Given the description of an element on the screen output the (x, y) to click on. 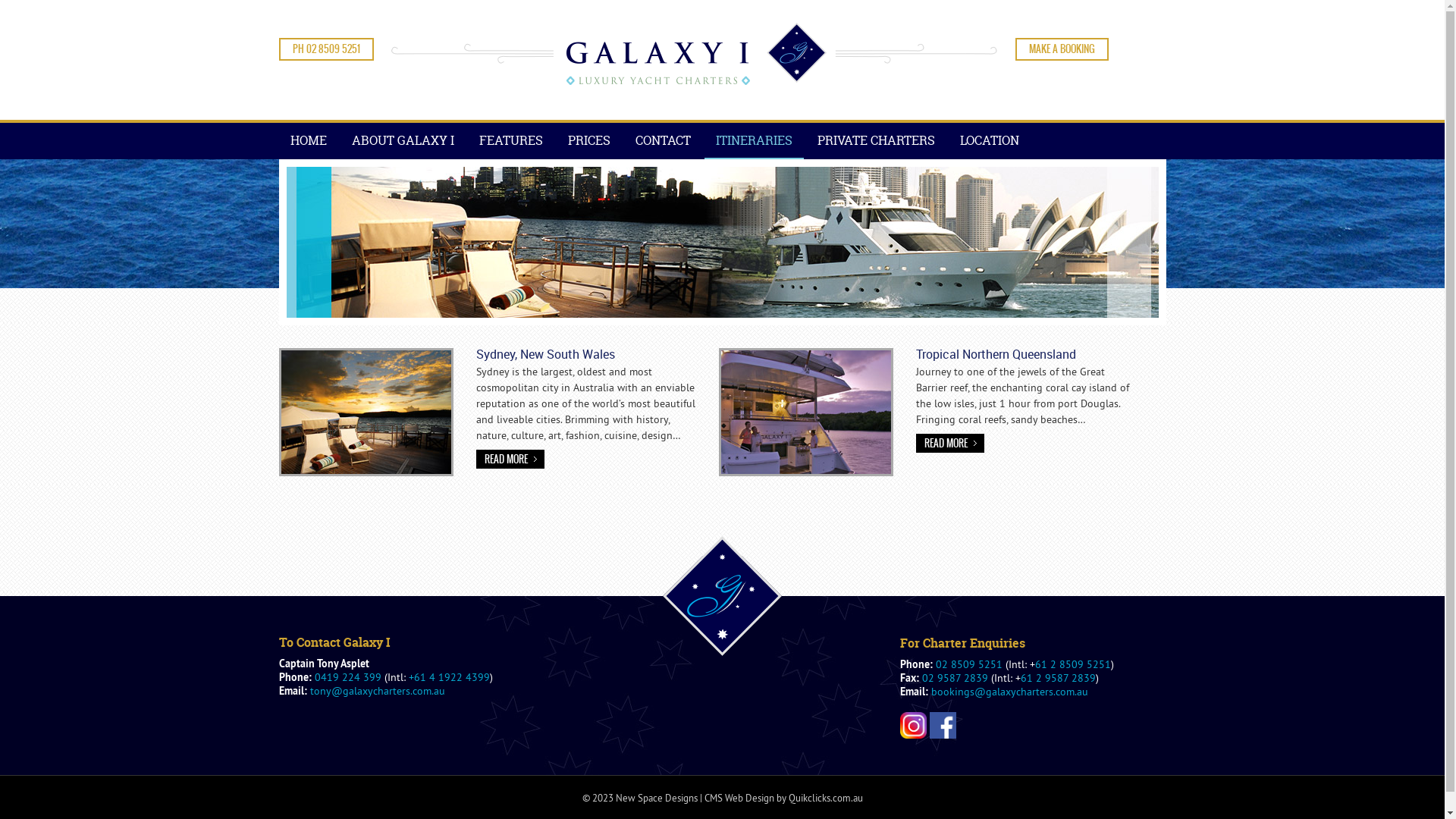
bookings@galaxycharters.com.au Element type: text (1009, 691)
New Space Designs Element type: text (656, 797)
61 2 8509 5251 Element type: text (1072, 664)
ABOUT GALAXY I Element type: text (401, 139)
MAKE A BOOKING Element type: text (1061, 48)
0419 224 399 Element type: text (346, 677)
HOME Element type: text (308, 139)
+61 4 1922 4399 Element type: text (448, 677)
LOCATION Element type: text (988, 139)
PRIVATE CHARTERS Element type: text (875, 139)
FEATURES Element type: text (510, 139)
tony@galaxycharters.com.au Element type: text (376, 690)
02 8509 5251 Element type: text (968, 664)
PRICES Element type: text (588, 139)
61 2 9587 2839 Element type: text (1057, 677)
02 9587 2839 Element type: text (955, 677)
ITINERARIES Element type: text (753, 140)
SKIP TO CONTENT Element type: text (289, 122)
CONTACT Element type: text (662, 139)
PH 02 8509 5251 Element type: text (326, 48)
